Given the description of an element on the screen output the (x, y) to click on. 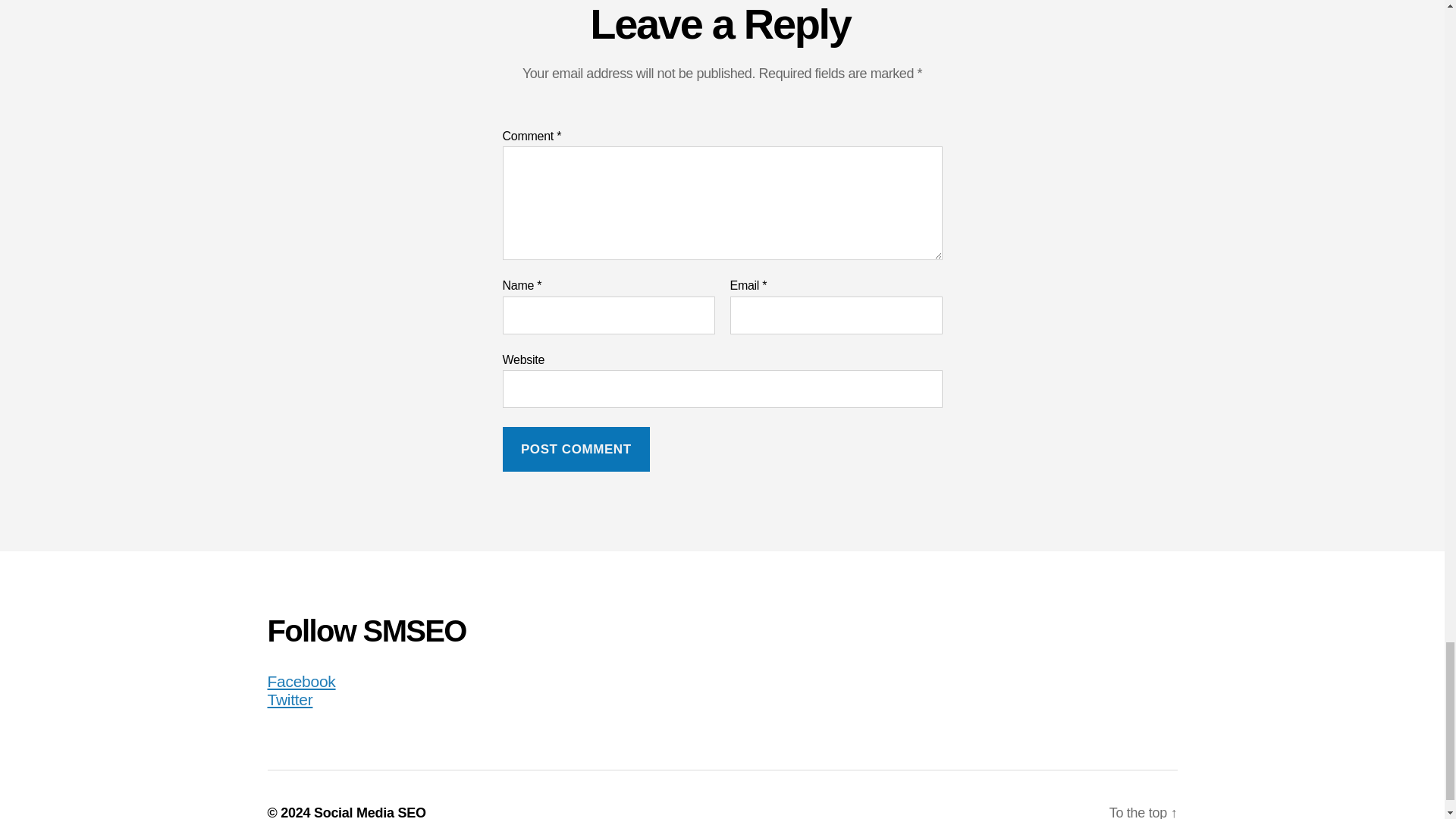
Post Comment (575, 448)
